Given the description of an element on the screen output the (x, y) to click on. 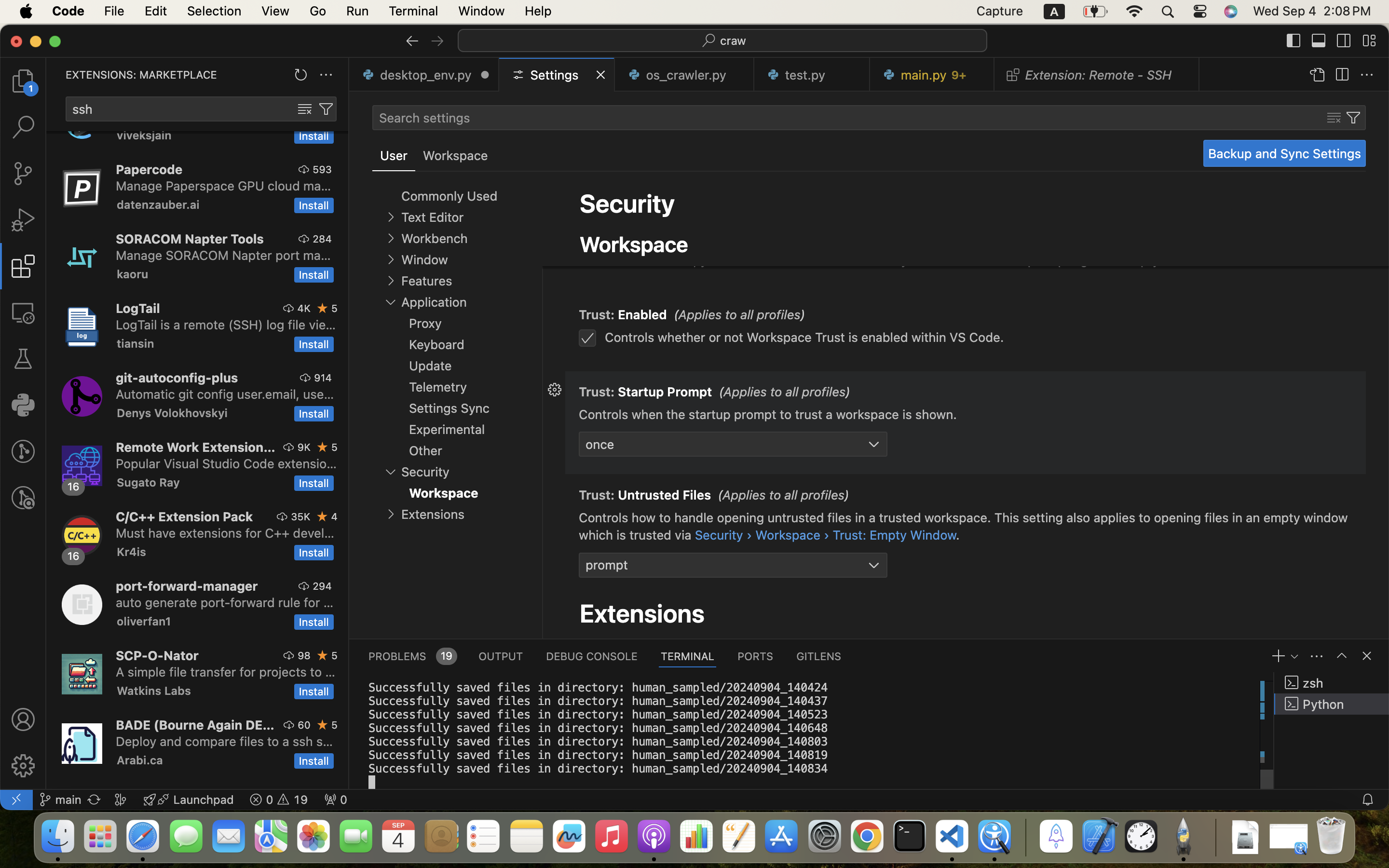
 Element type: AXGroup (23, 358)
 Element type: AXButton (304, 108)
0  Element type: AXRadioButton (23, 127)
Extensions Element type: AXStaticText (642, 612)
1 TERMINAL Element type: AXRadioButton (687, 655)
